Given the description of an element on the screen output the (x, y) to click on. 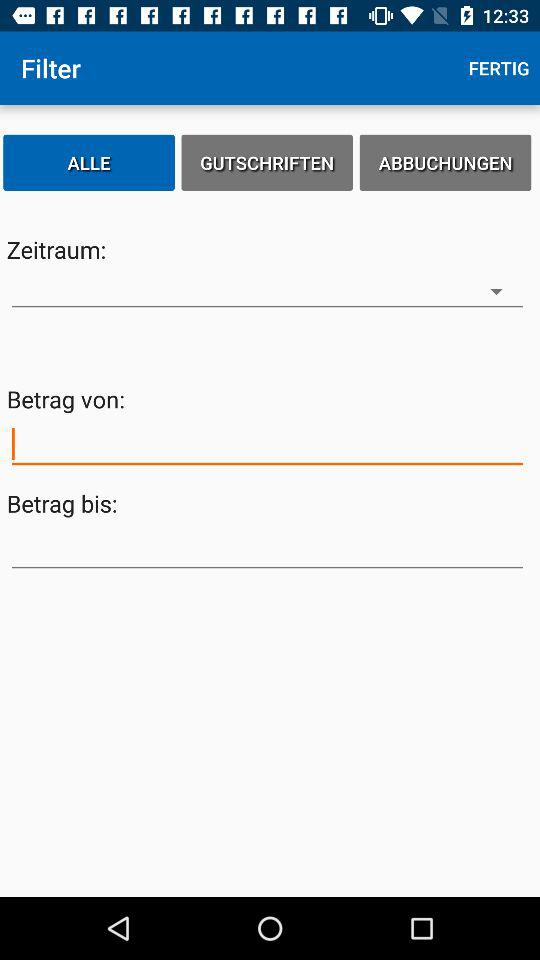
choose icon to the right of the gutschriften item (445, 162)
